Given the description of an element on the screen output the (x, y) to click on. 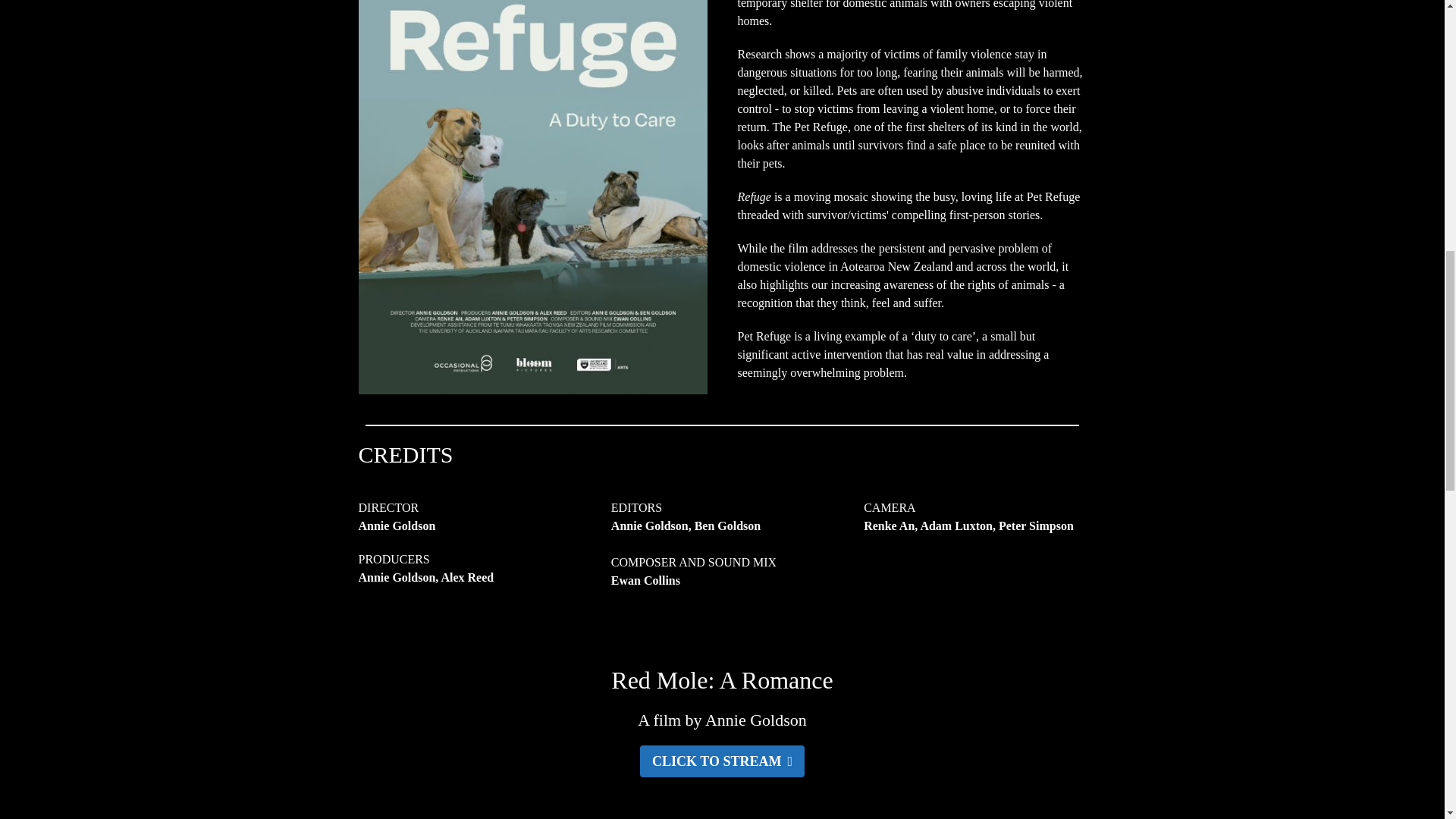
CLICK TO STREAM (722, 761)
